Given the description of an element on the screen output the (x, y) to click on. 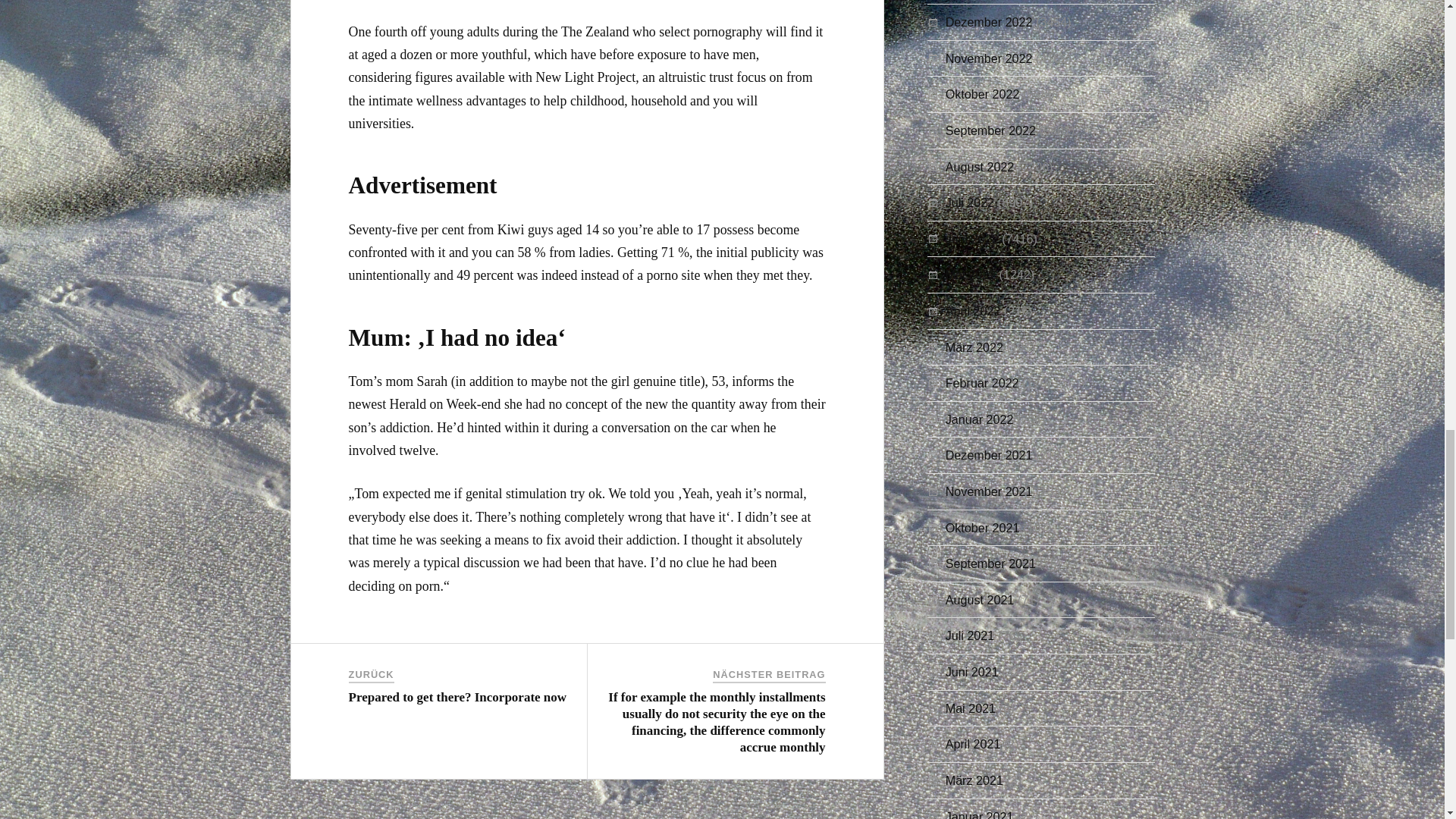
Vorheriger Beitrag: Prepared to get there? Incorporate now (458, 697)
